Given the description of an element on the screen output the (x, y) to click on. 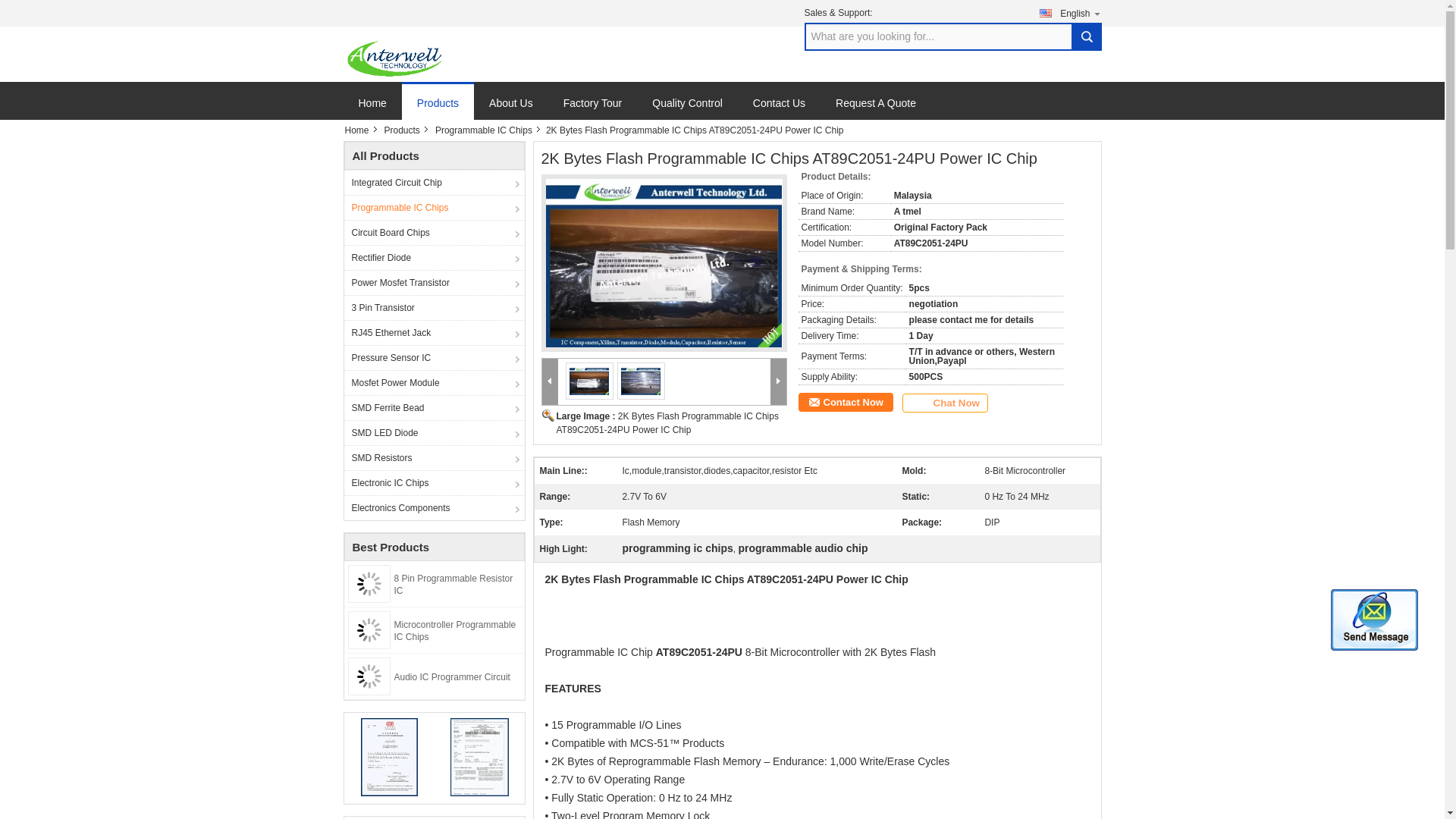
China 3 Pin Transistor  on sales (433, 307)
Integrated Circuit Chip (433, 181)
China Pressure Sensor IC  on sales (433, 357)
3 Pin Transistor (433, 307)
SMD Ferrite Bead (433, 407)
SMD LED Diode (433, 432)
Factory Tour (592, 109)
Pressure Sensor IC (433, 357)
Audio IC Programmer Circuit (452, 676)
Request A Quote (876, 109)
Circuit Board Chips (433, 232)
About Us (511, 109)
China Rectifier Diode  on sales (433, 257)
Power Mosfet Transistor (433, 282)
Products (403, 130)
